Given the description of an element on the screen output the (x, y) to click on. 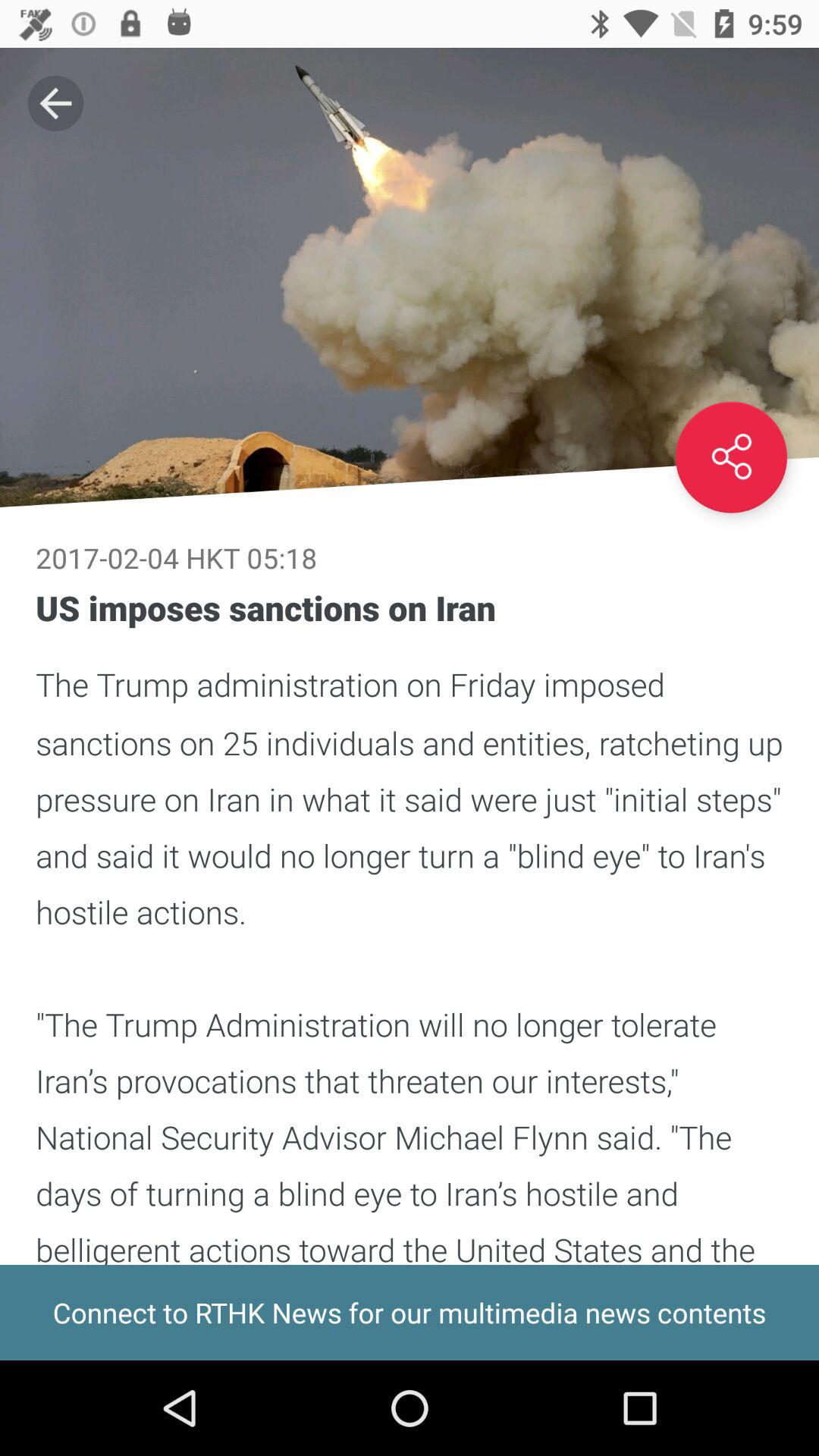
click the icon above the us imposes sanctions icon (731, 457)
